Given the description of an element on the screen output the (x, y) to click on. 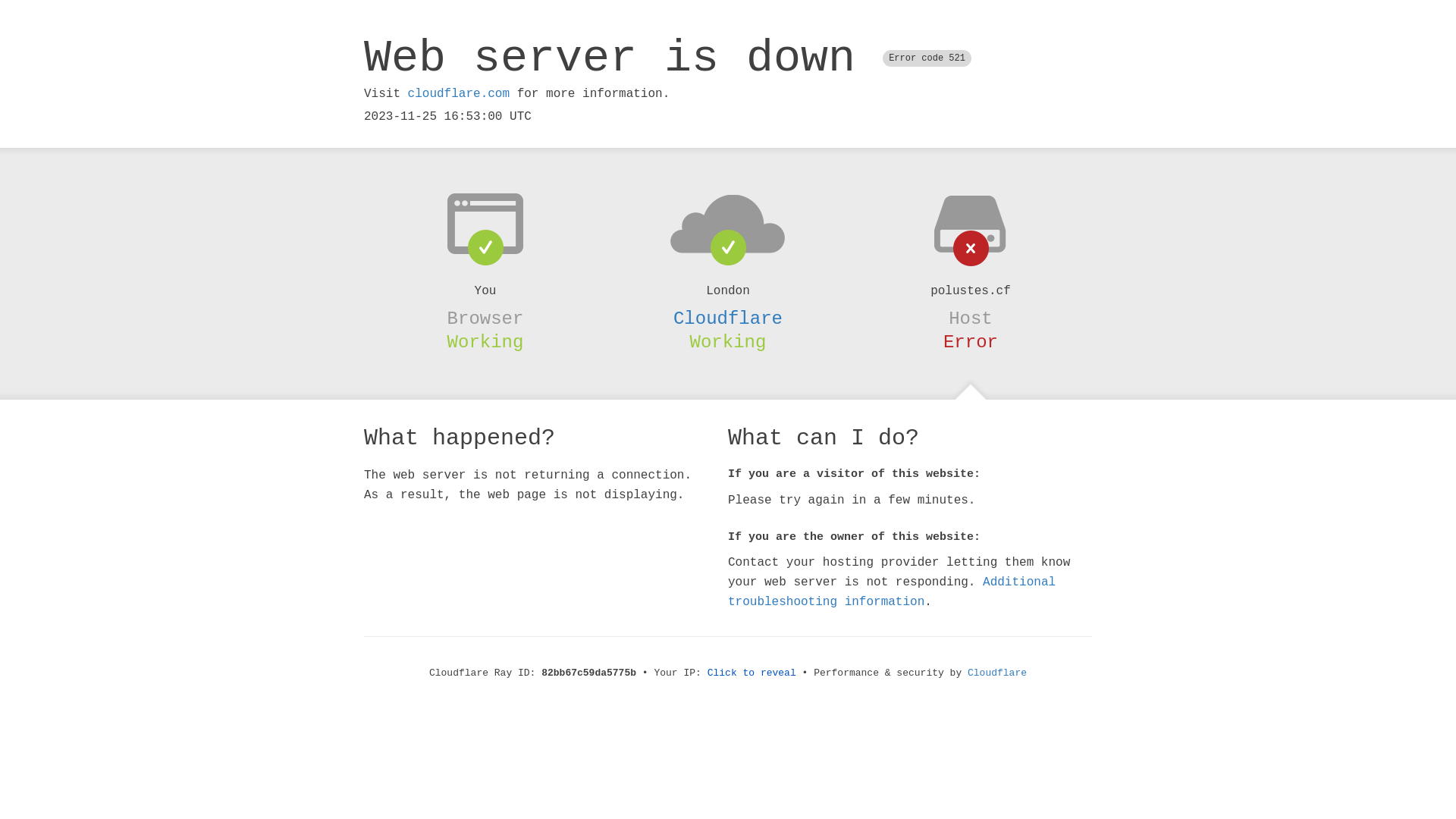
Cloudflare Element type: text (727, 318)
cloudflare.com Element type: text (458, 93)
Cloudflare Element type: text (996, 672)
Click to reveal Element type: text (751, 672)
Additional troubleshooting information Element type: text (891, 591)
